Given the description of an element on the screen output the (x, y) to click on. 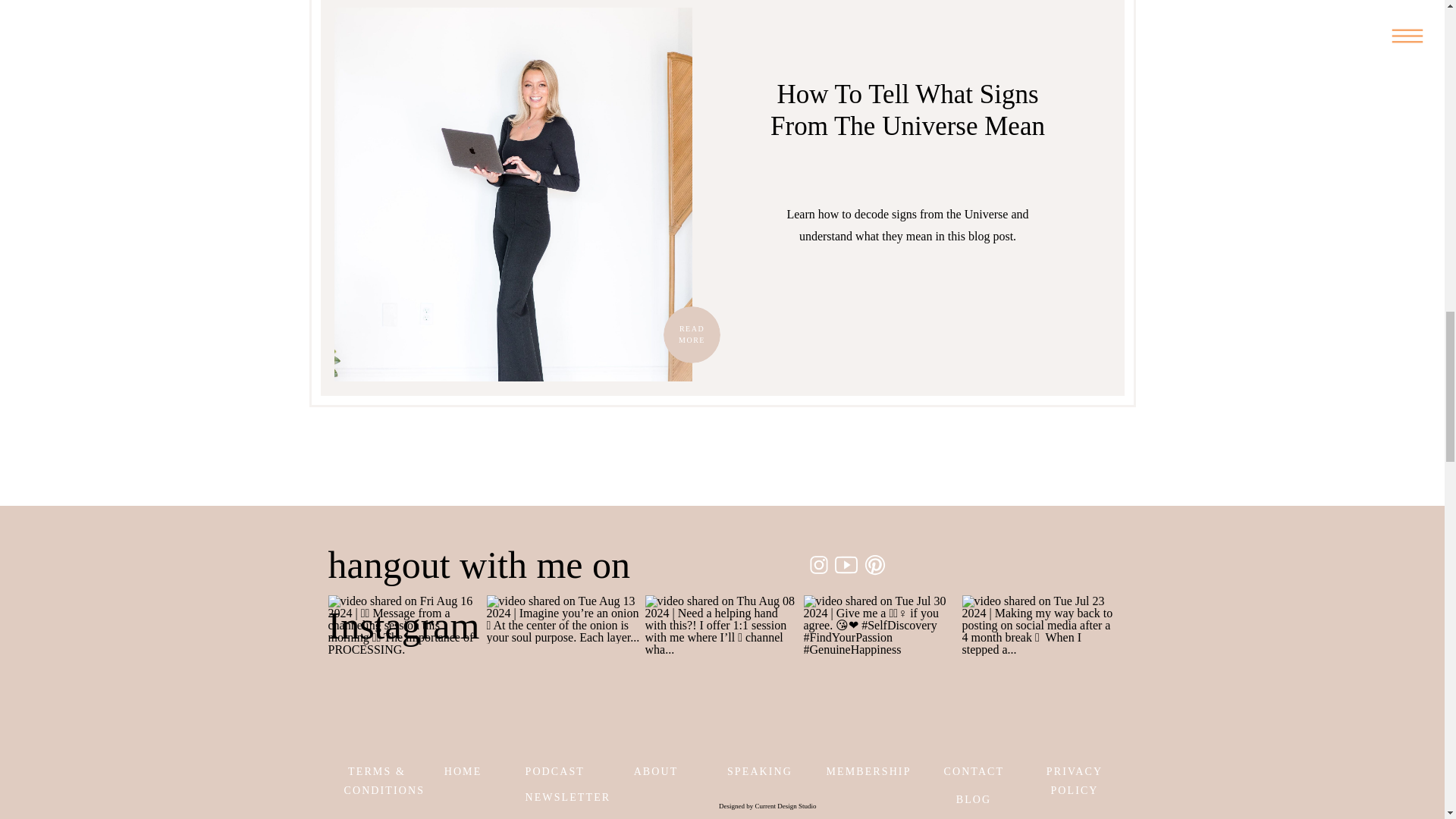
ABOUT (655, 770)
HOME (462, 770)
READ MORE (691, 334)
MEMBERSHIP (846, 770)
How To Tell What Signs From The Universe Mean (907, 109)
How To Tell What Signs From The Universe Mean (512, 194)
CONTACT (973, 770)
How To Tell What Signs From The Universe Mean (690, 334)
Designed by Current Design Studio (756, 805)
How To Tell What Signs From The Universe Mean (691, 334)
